Given the description of an element on the screen output the (x, y) to click on. 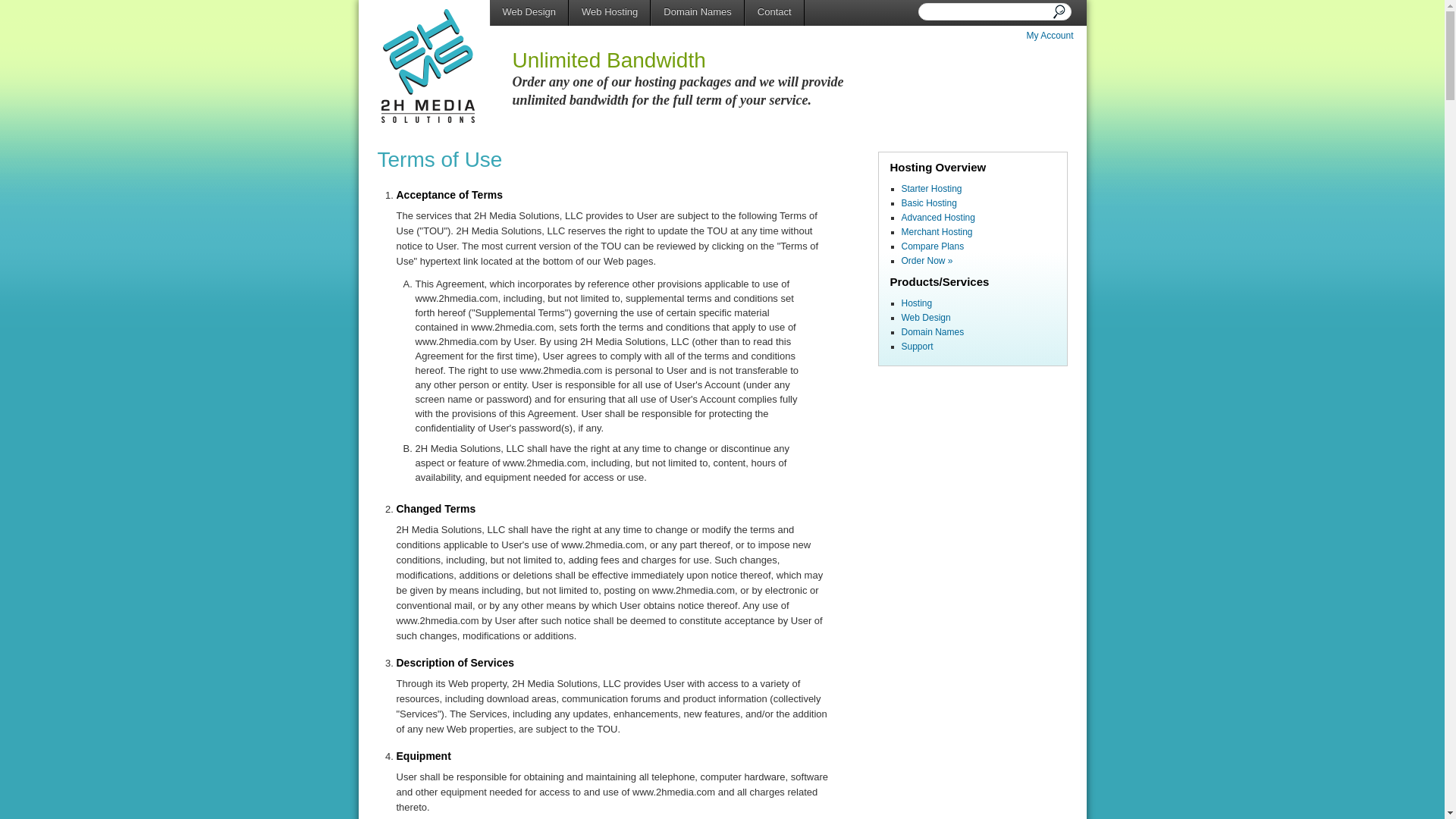
My Account Element type: text (1049, 35)
Domain Names Element type: text (931, 331)
Web Hosting Element type: text (609, 12)
Back to 2HMedia.com Element type: hover (428, 66)
Basic Hosting Element type: text (928, 202)
Hosting Element type: text (915, 303)
Starter Hosting Element type: text (930, 188)
Contact Element type: text (774, 12)
Compare Plans Element type: text (931, 246)
Domain Names Element type: text (697, 12)
Web Design Element type: text (925, 317)
Web Design Element type: text (528, 12)
Merchant Hosting Element type: text (936, 231)
Advanced Hosting Element type: text (937, 217)
Support Element type: text (916, 346)
